Given the description of an element on the screen output the (x, y) to click on. 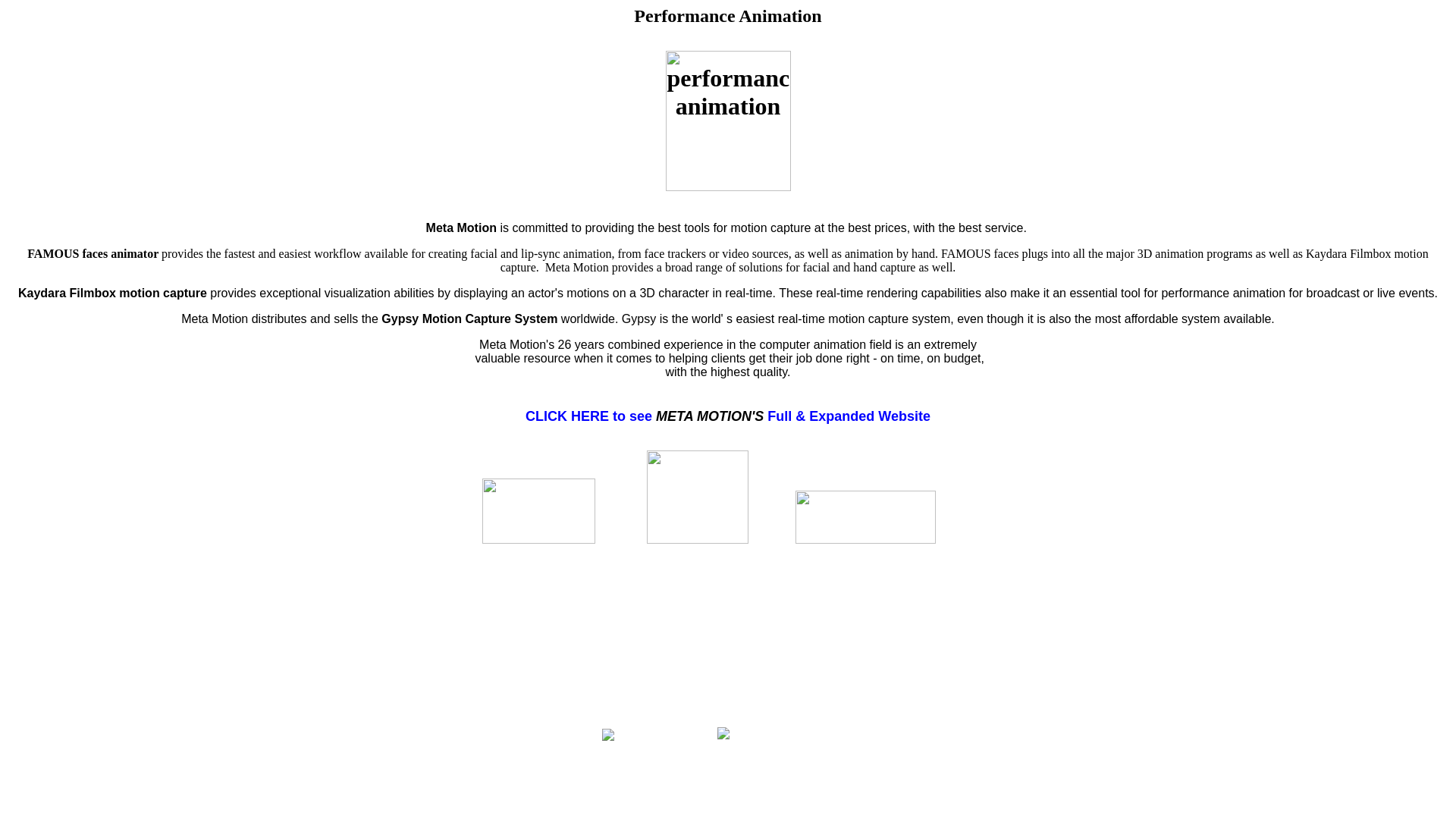
Performance Animation Element type: text (727, 663)
CLICK HERE to see META MOTION'S Full & Expanded Website Element type: text (727, 424)
Welcome to Meta Motion's web site for performance animation. Element type: text (727, 708)
animation Element type: text (728, 640)
Animation Element type: text (728, 685)
performance animation Element type: text (727, 617)
